Given the description of an element on the screen output the (x, y) to click on. 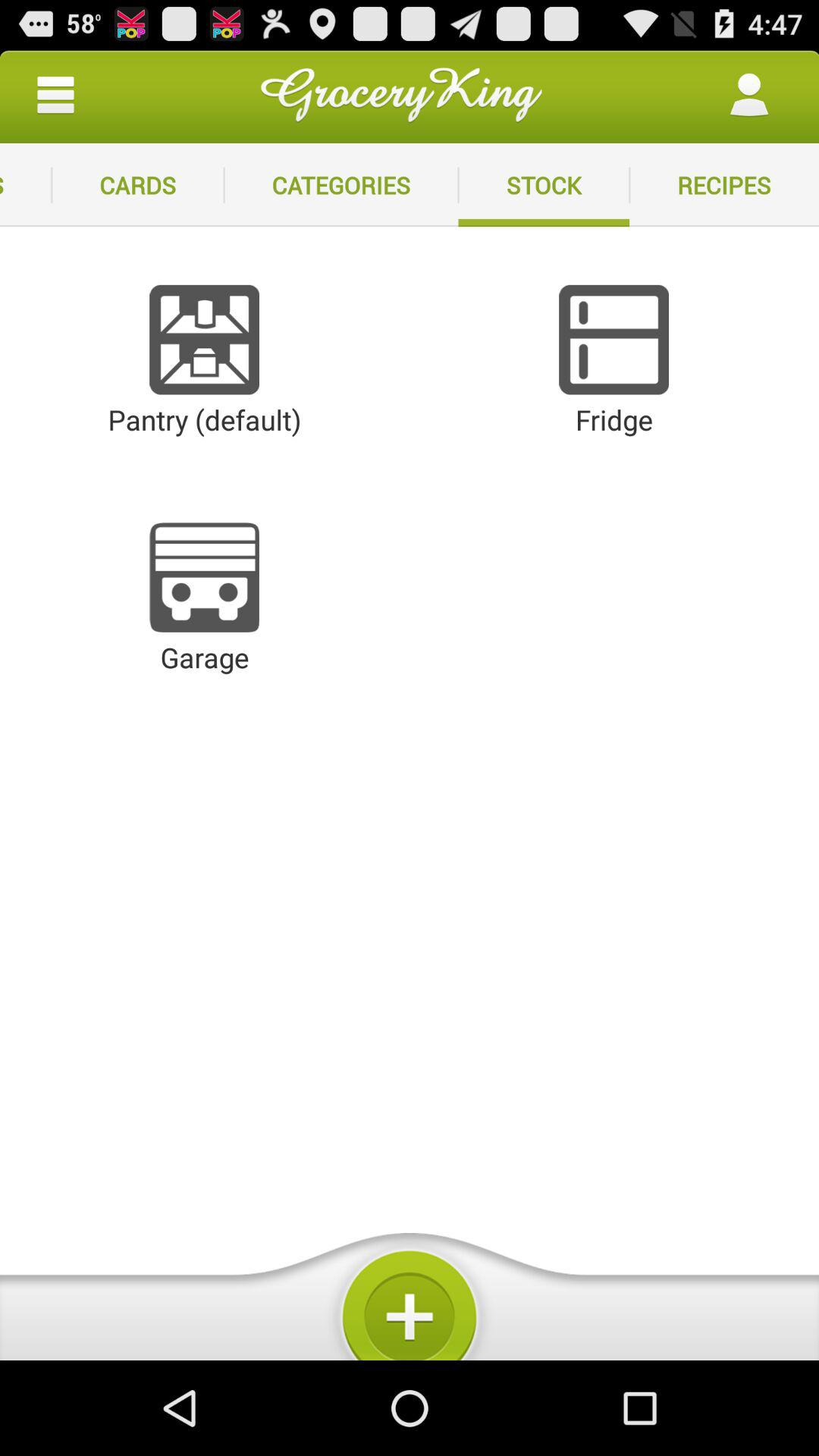
turn off item to the left of cards app (25, 184)
